Given the description of an element on the screen output the (x, y) to click on. 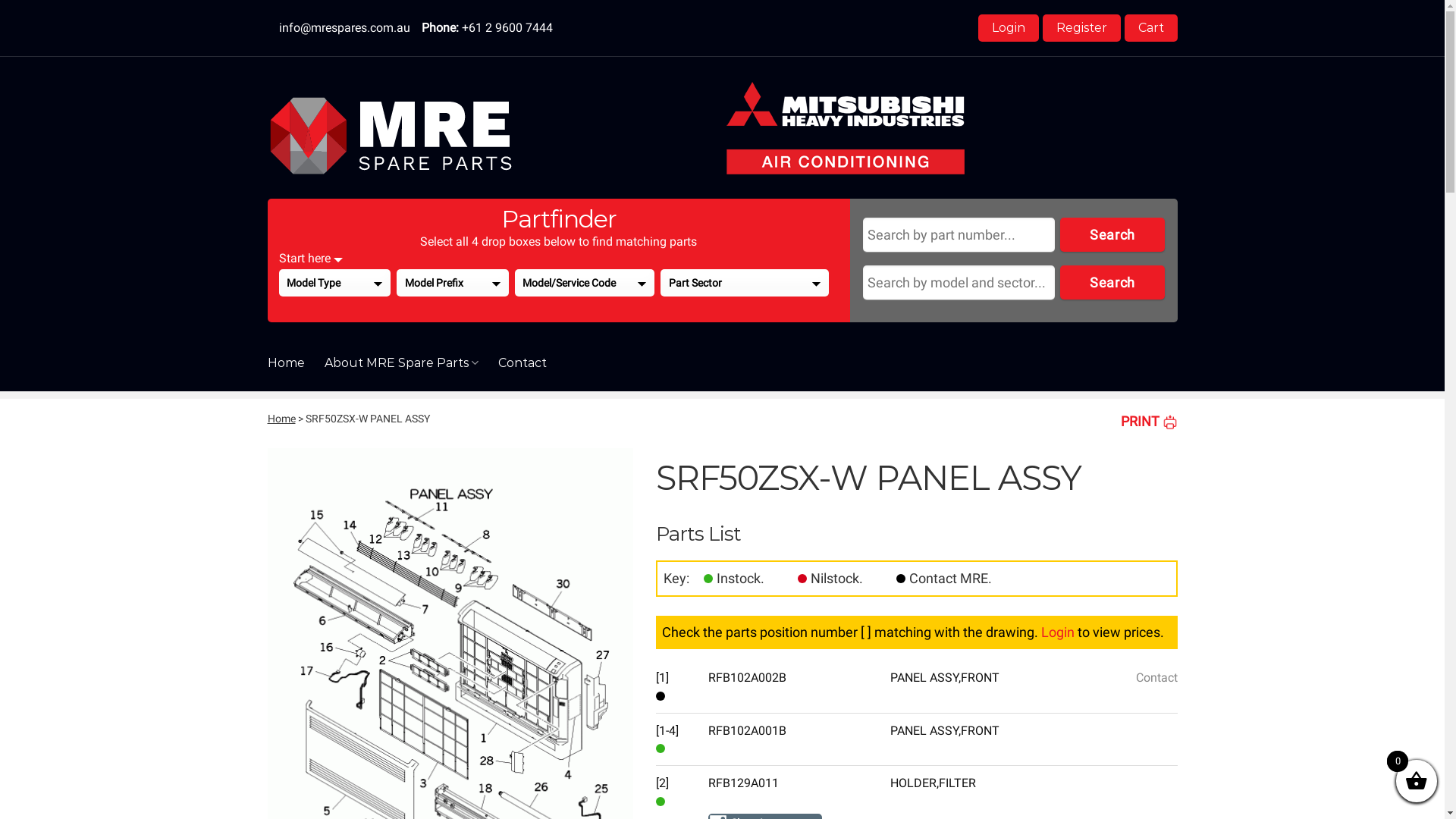
Cart Element type: text (1149, 27)
Home Element type: text (280, 418)
info@mrespares.com.au Element type: text (344, 27)
Login Element type: text (1008, 27)
Skip to content Element type: text (0, 0)
Search Element type: text (1112, 282)
In Stock Element type: hover (707, 578)
Login Element type: text (1057, 632)
Out of Stock Element type: hover (801, 578)
Home Element type: text (285, 362)
Contact Element type: text (522, 362)
About MRE Spare Parts Element type: text (401, 362)
Search Element type: text (1112, 234)
Contact Element type: hover (900, 578)
+61 2 9600 7444 Element type: text (506, 27)
PRINT Element type: text (1148, 421)
Register Element type: text (1080, 27)
